Given the description of an element on the screen output the (x, y) to click on. 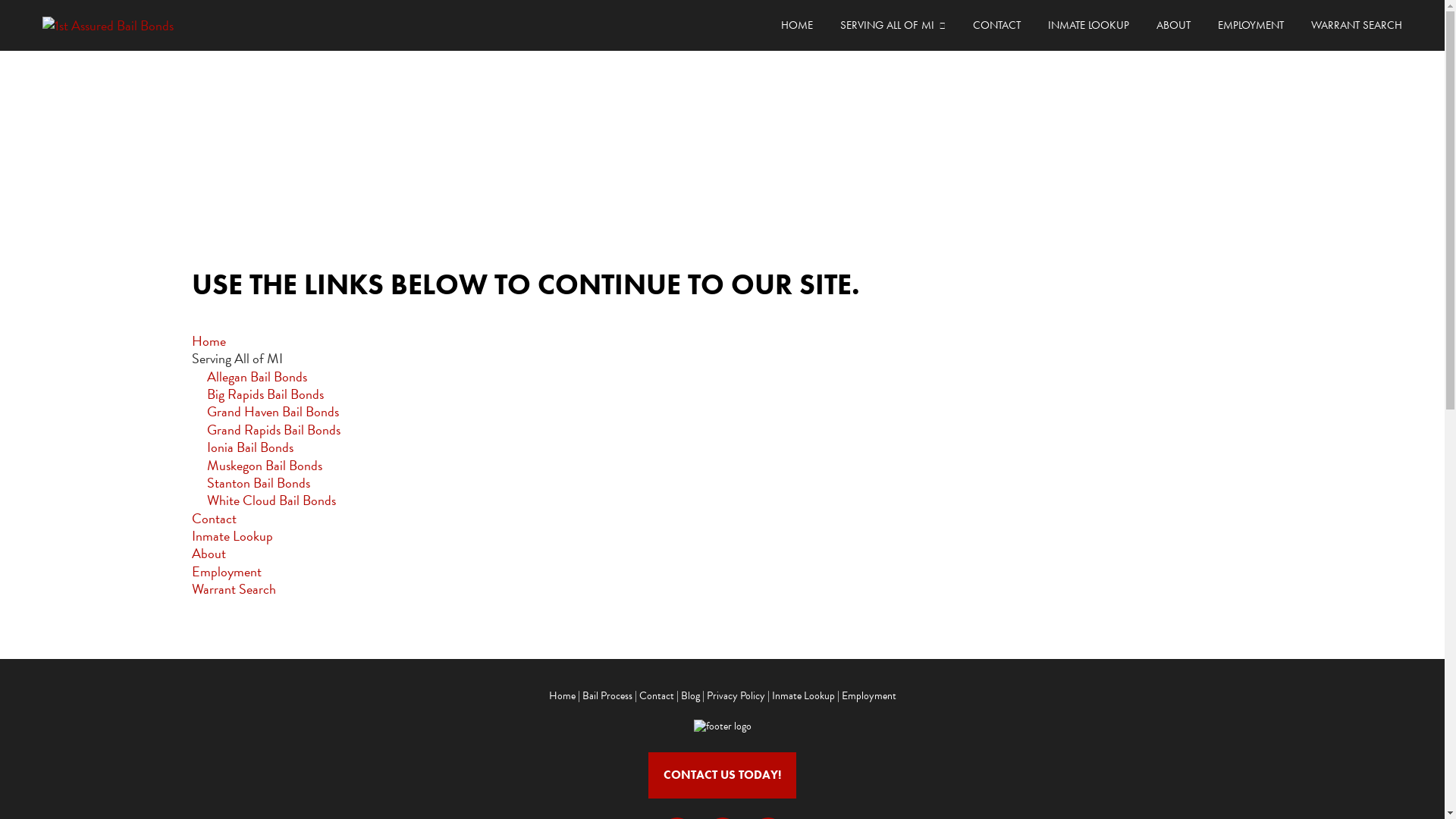
INMATE LOOKUP Element type: text (1088, 25)
Grand Rapids Bail Bonds Element type: text (272, 429)
White Cloud Bail Bonds Element type: text (270, 499)
Home Element type: text (208, 340)
CONTACT US TODAY! Element type: text (722, 775)
Big Rapids Bail Bonds Element type: text (264, 393)
Allegan Bail Bonds Element type: text (256, 376)
EMPLOYMENT Element type: text (1250, 25)
Contact Element type: text (655, 695)
About Element type: text (208, 552)
Bail Process Element type: text (607, 695)
Grand Haven Bail Bonds Element type: text (272, 411)
Contact Element type: text (213, 518)
Warrant Search Element type: text (233, 588)
Privacy Policy Element type: text (735, 695)
Ionia Bail Bonds Element type: text (249, 446)
Employment Element type: text (225, 571)
Blog Element type: text (689, 695)
WARRANT SEARCH Element type: text (1356, 25)
1st Assured Bail Bonds Element type: hover (152, 25)
HOME Element type: text (796, 25)
Home Element type: text (563, 695)
CONTACT Element type: text (996, 25)
Stanton Bail Bonds Element type: text (257, 482)
Inmate Lookup Element type: text (231, 535)
Inmate Lookup Element type: text (802, 695)
Muskegon Bail Bonds Element type: text (263, 465)
ABOUT Element type: text (1173, 25)
Employment Element type: text (868, 695)
